Given the description of an element on the screen output the (x, y) to click on. 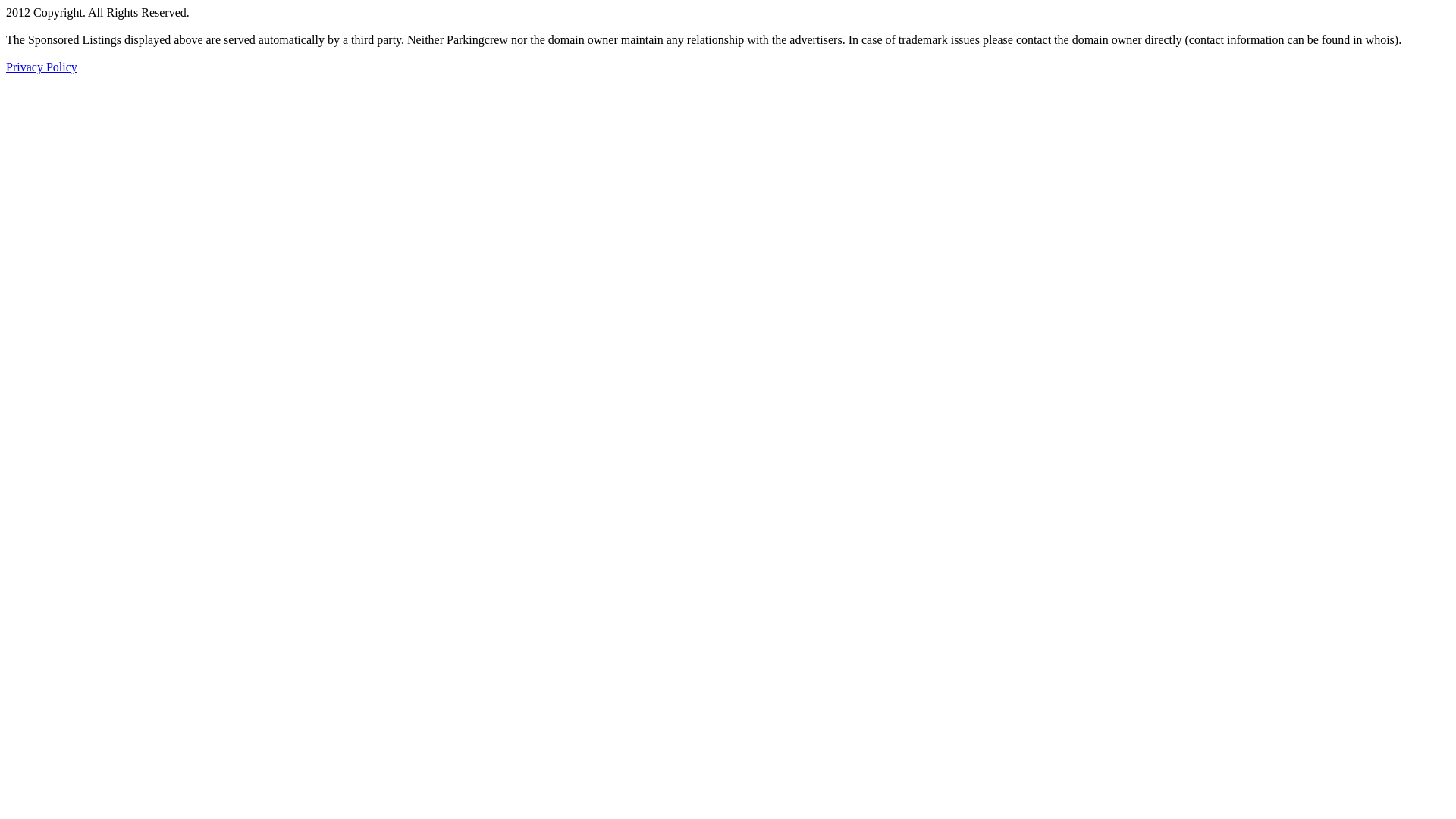
Privacy Policy Element type: text (41, 66)
